Given the description of an element on the screen output the (x, y) to click on. 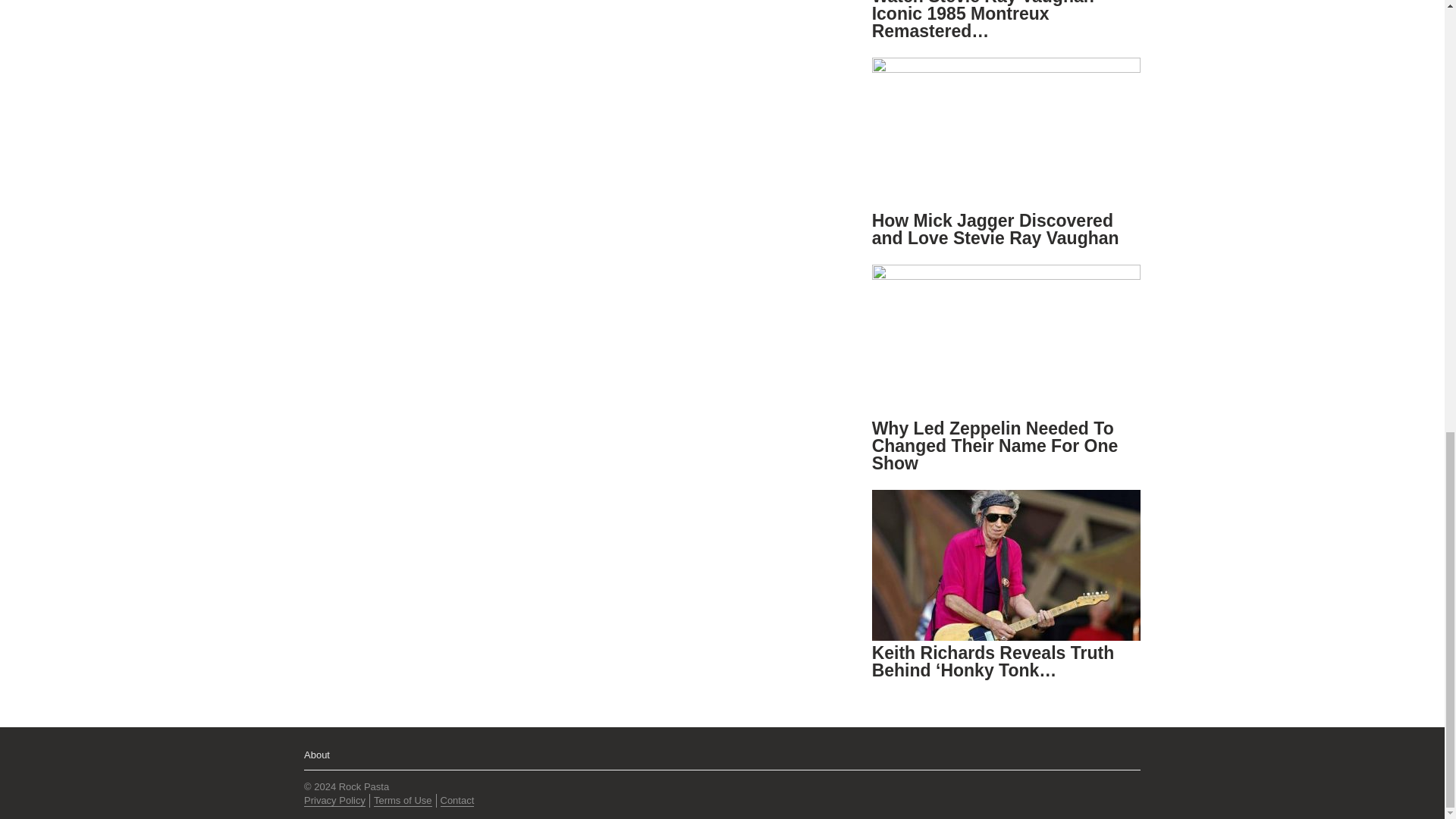
How Mick Jagger Discovered and Love Stevie Ray Vaughan (995, 229)
About (317, 754)
Why Led Zeppelin Needed To Changed Their Name For One Show (995, 445)
Privacy Policy (334, 800)
